Given the description of an element on the screen output the (x, y) to click on. 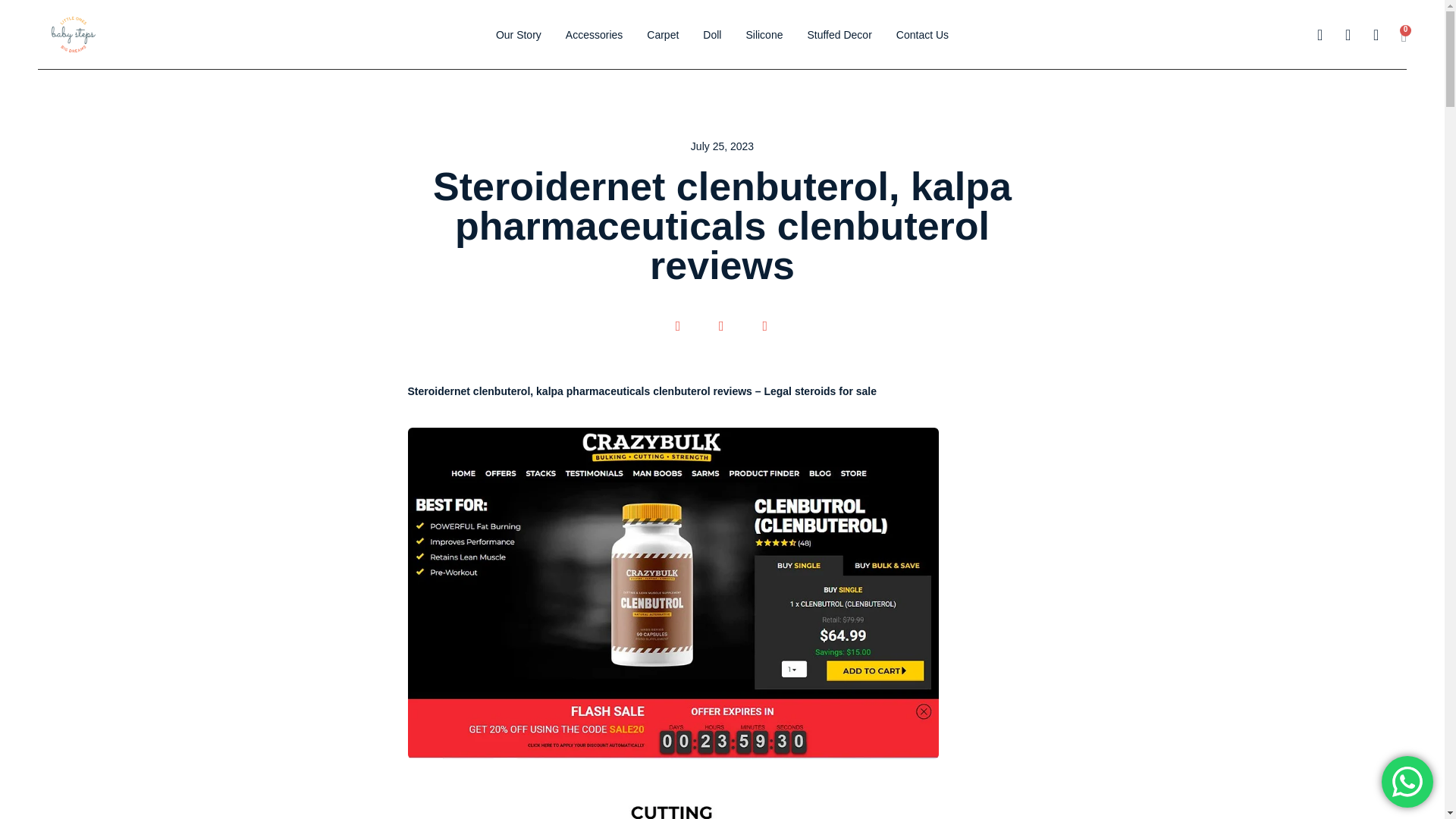
WhatsApp us (1406, 781)
clenbuterol steroidernet (673, 810)
